Given the description of an element on the screen output the (x, y) to click on. 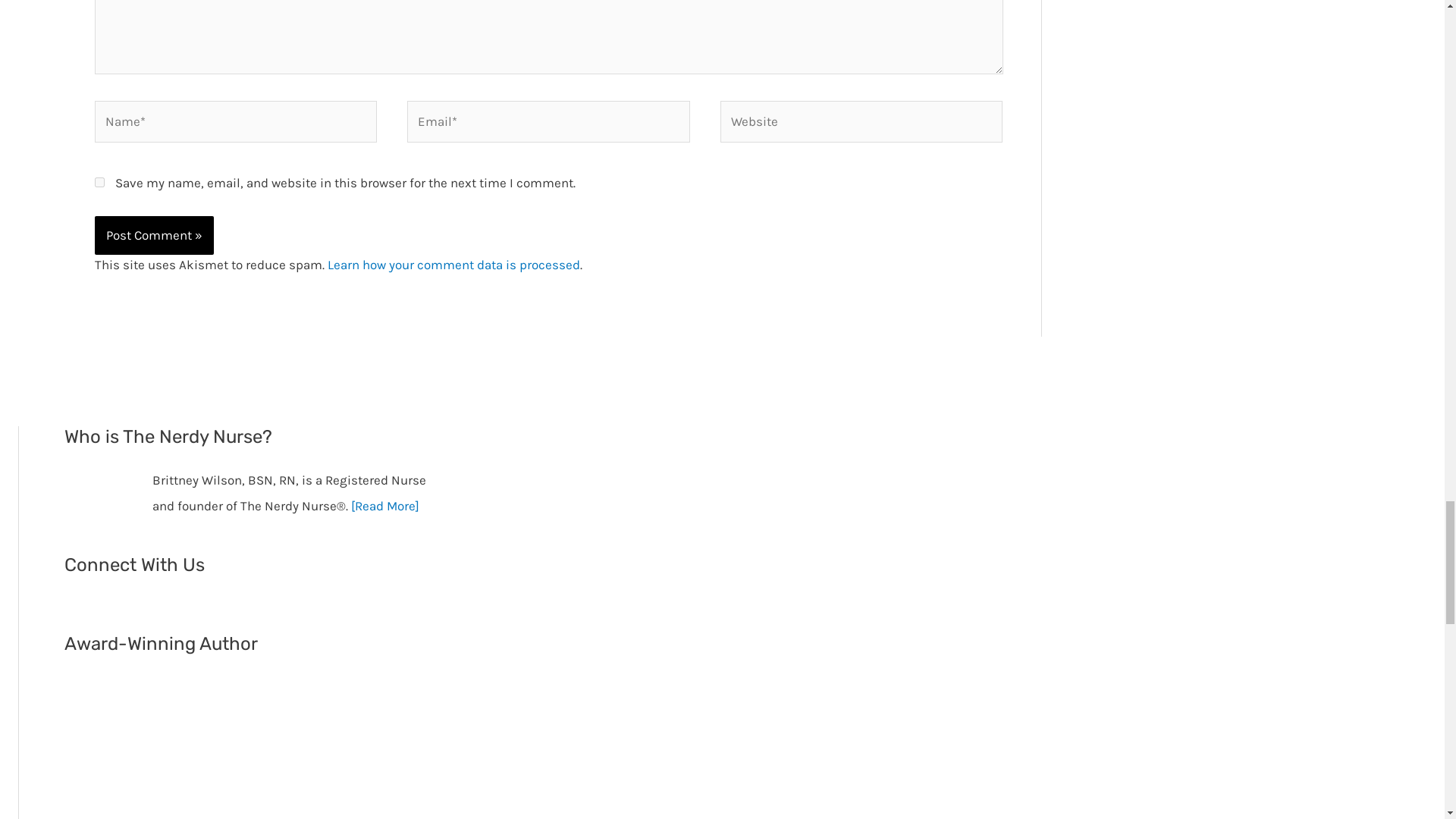
yes (99, 182)
